Given the description of an element on the screen output the (x, y) to click on. 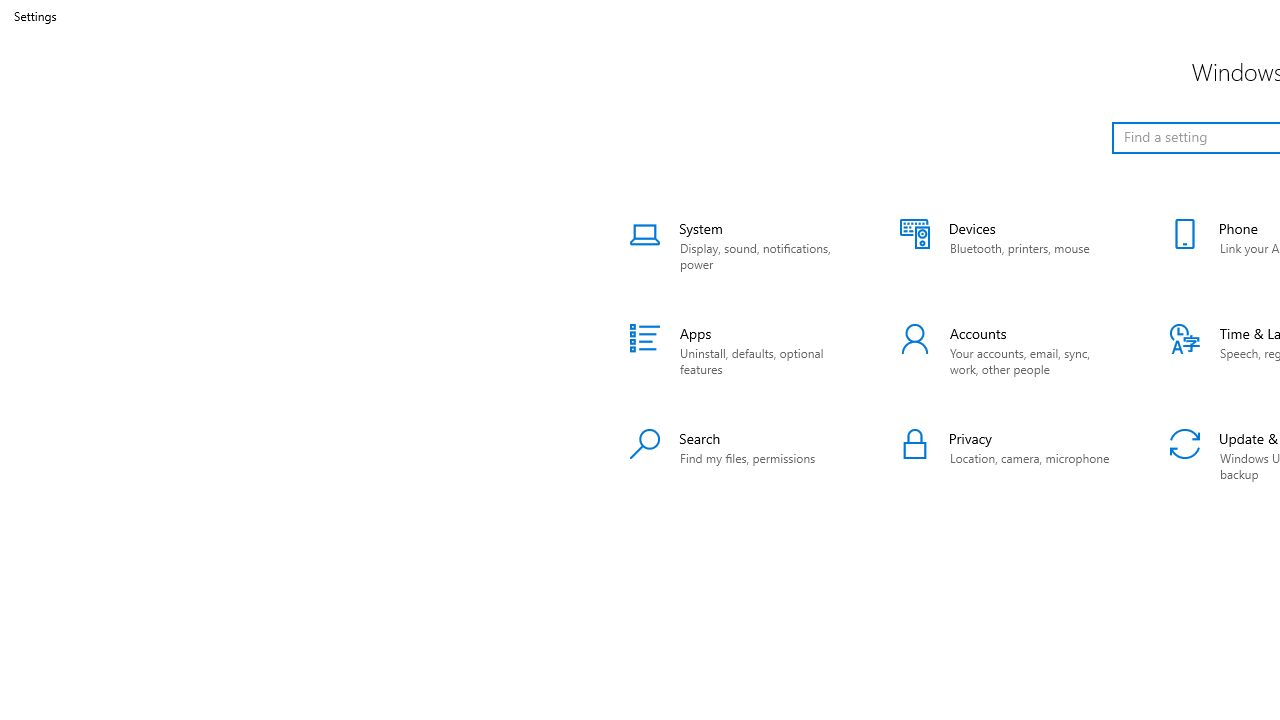
Accounts (1009, 350)
System (739, 245)
Devices (1009, 245)
Privacy (1009, 455)
Search (739, 455)
